Given the description of an element on the screen output the (x, y) to click on. 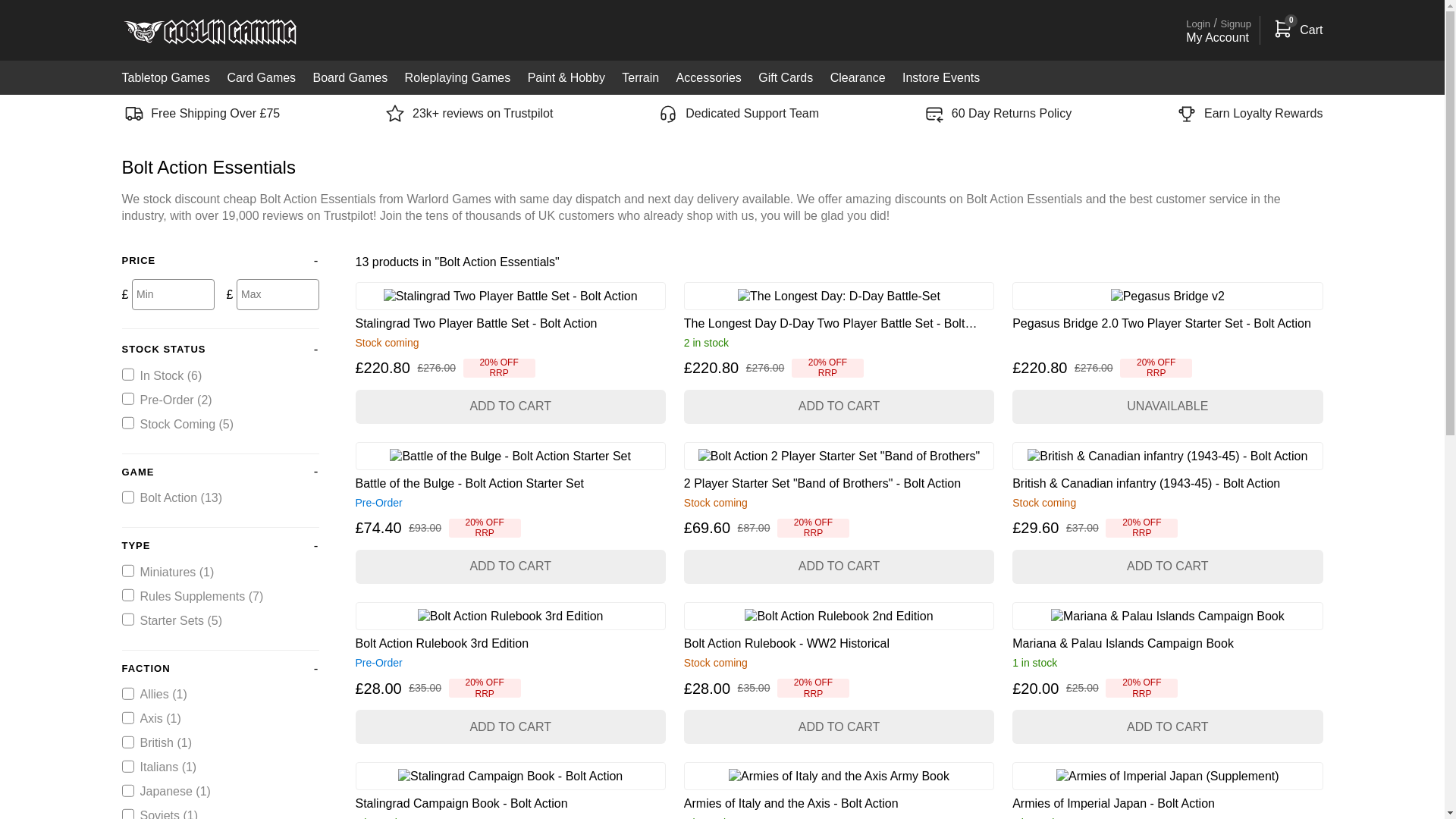
Bolt Action (126, 497)
Rules Supplements (126, 594)
British (126, 742)
Italians (126, 766)
In Stock (126, 374)
Japanese (126, 790)
Stock Coming (126, 422)
Miniatures (126, 571)
Starter Sets (126, 619)
Allies (126, 693)
Pre-Order (126, 398)
Soviets (126, 814)
Axis (126, 717)
